Given the description of an element on the screen output the (x, y) to click on. 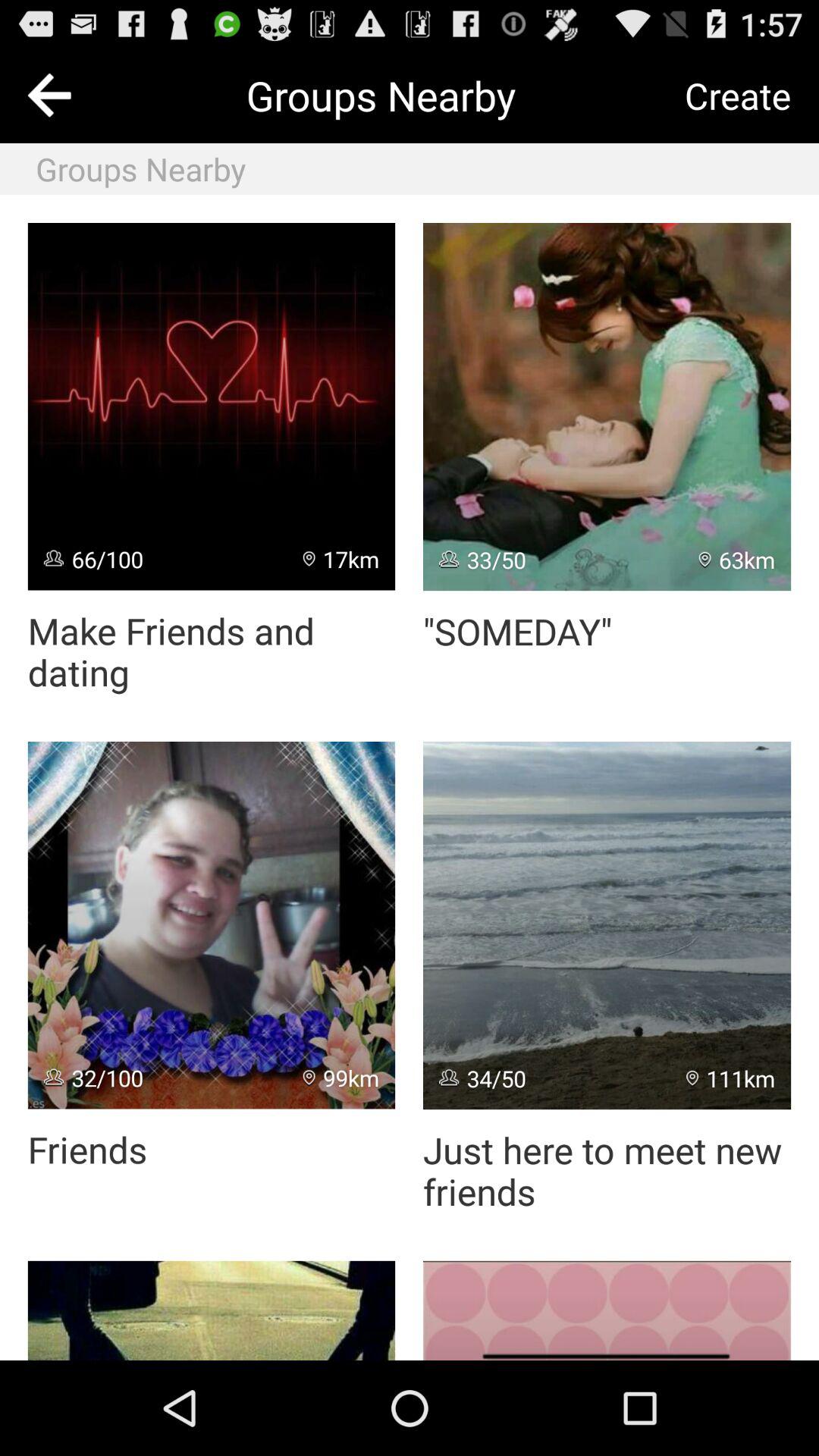
scroll to the 17km item (341, 558)
